Given the description of an element on the screen output the (x, y) to click on. 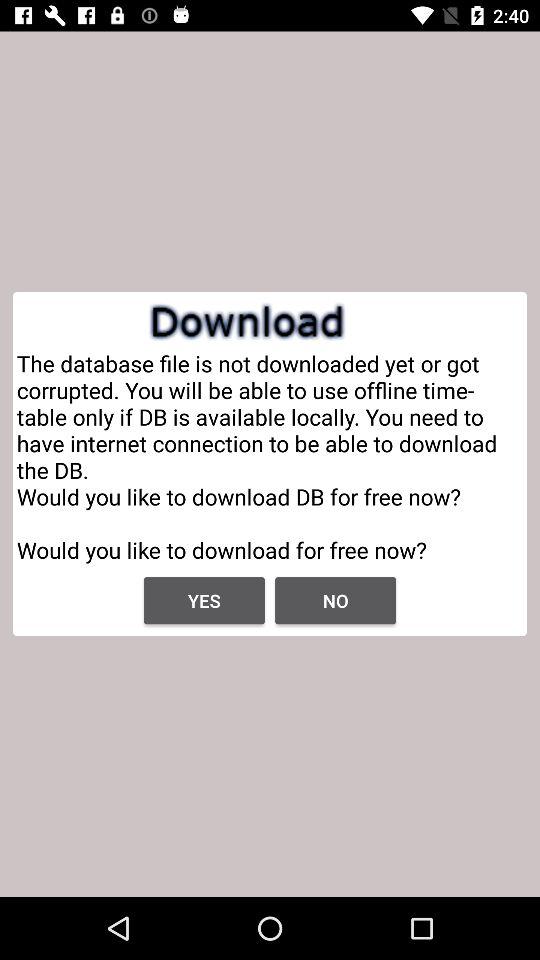
tap the icon next to no icon (204, 600)
